Given the description of an element on the screen output the (x, y) to click on. 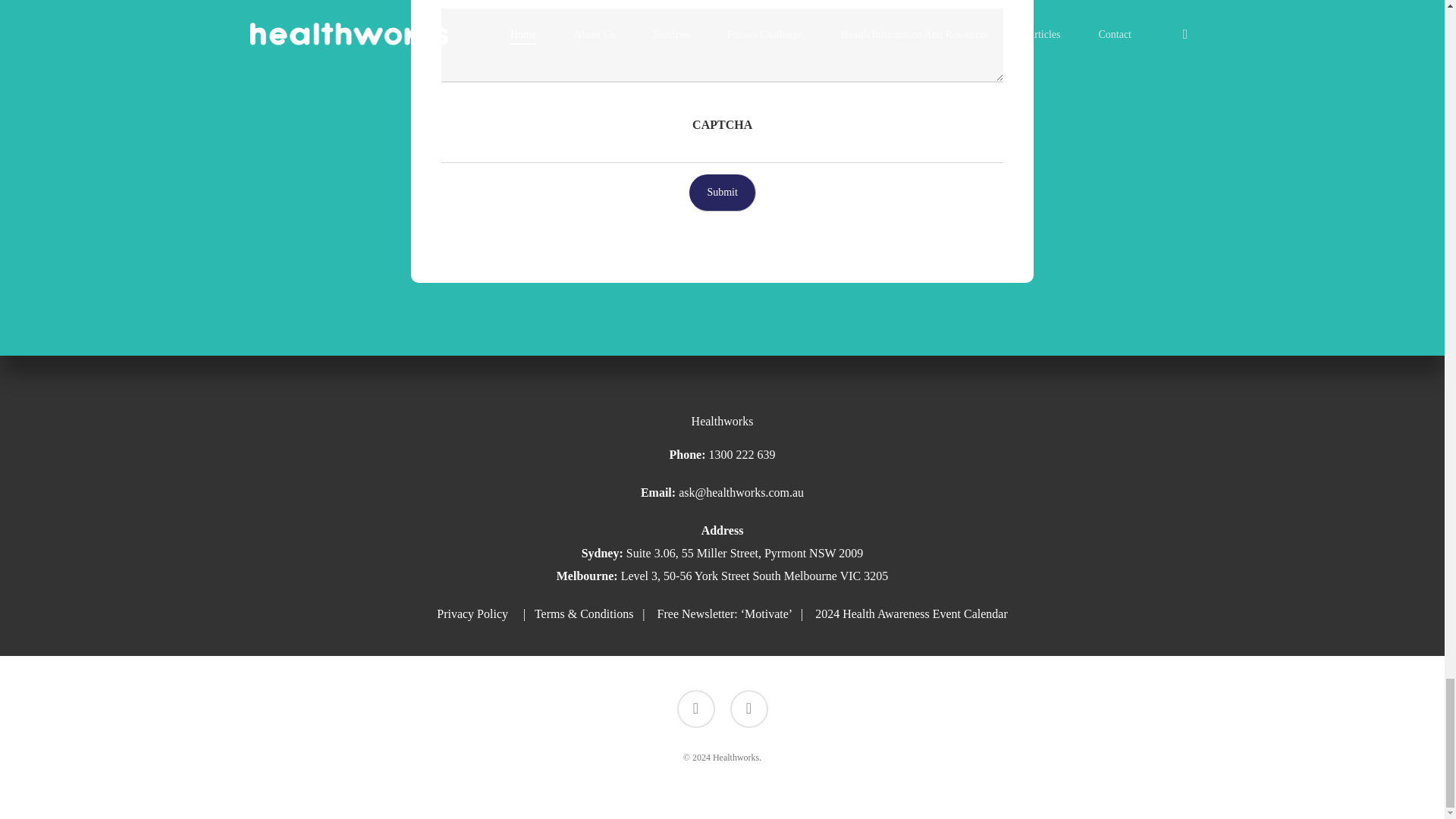
Submit (721, 192)
